Given the description of an element on the screen output the (x, y) to click on. 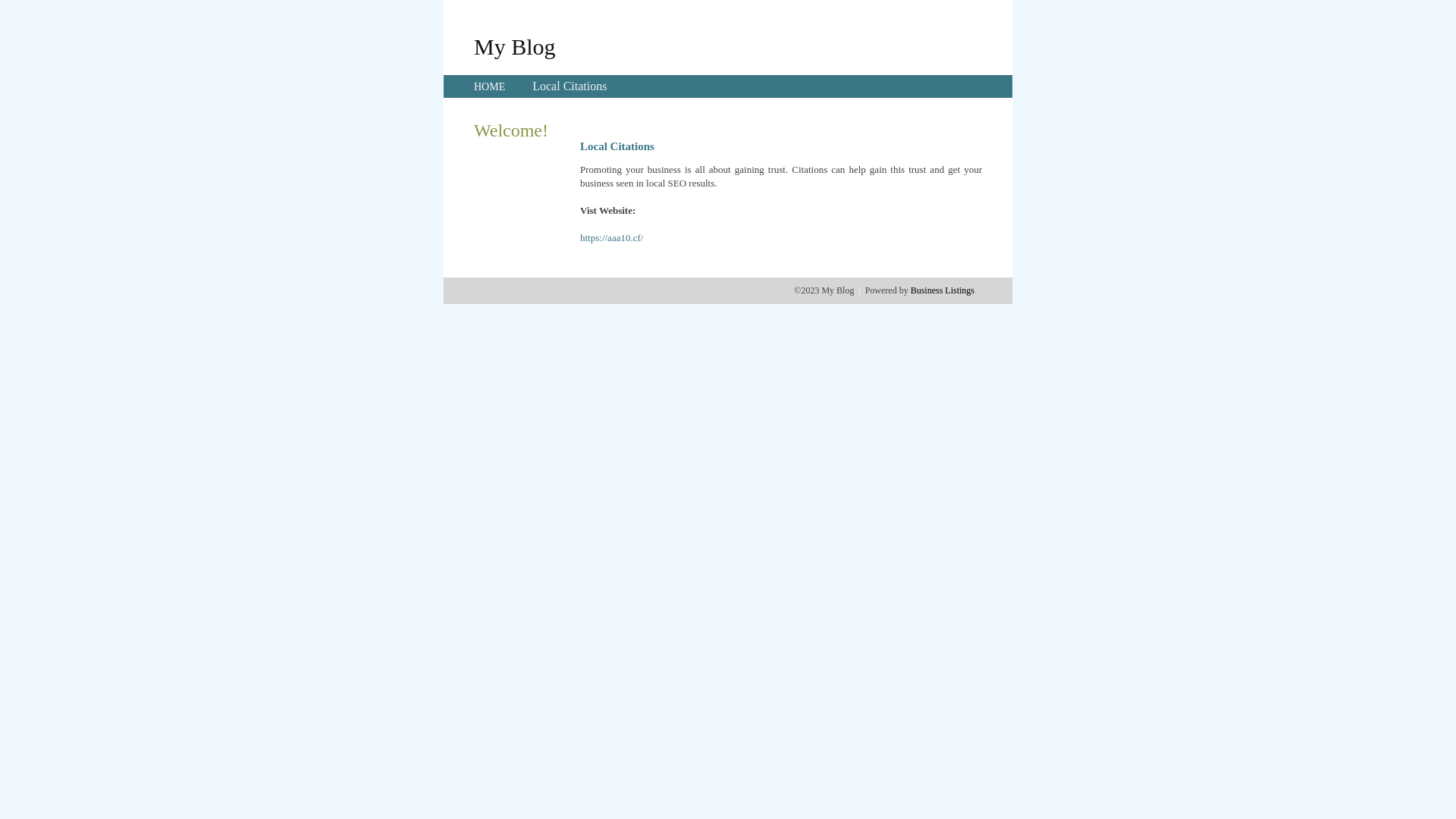
HOME Element type: text (489, 86)
Local Citations Element type: text (569, 85)
Business Listings Element type: text (942, 290)
https://aaa10.cf/ Element type: text (611, 237)
My Blog Element type: text (514, 46)
